Given the description of an element on the screen output the (x, y) to click on. 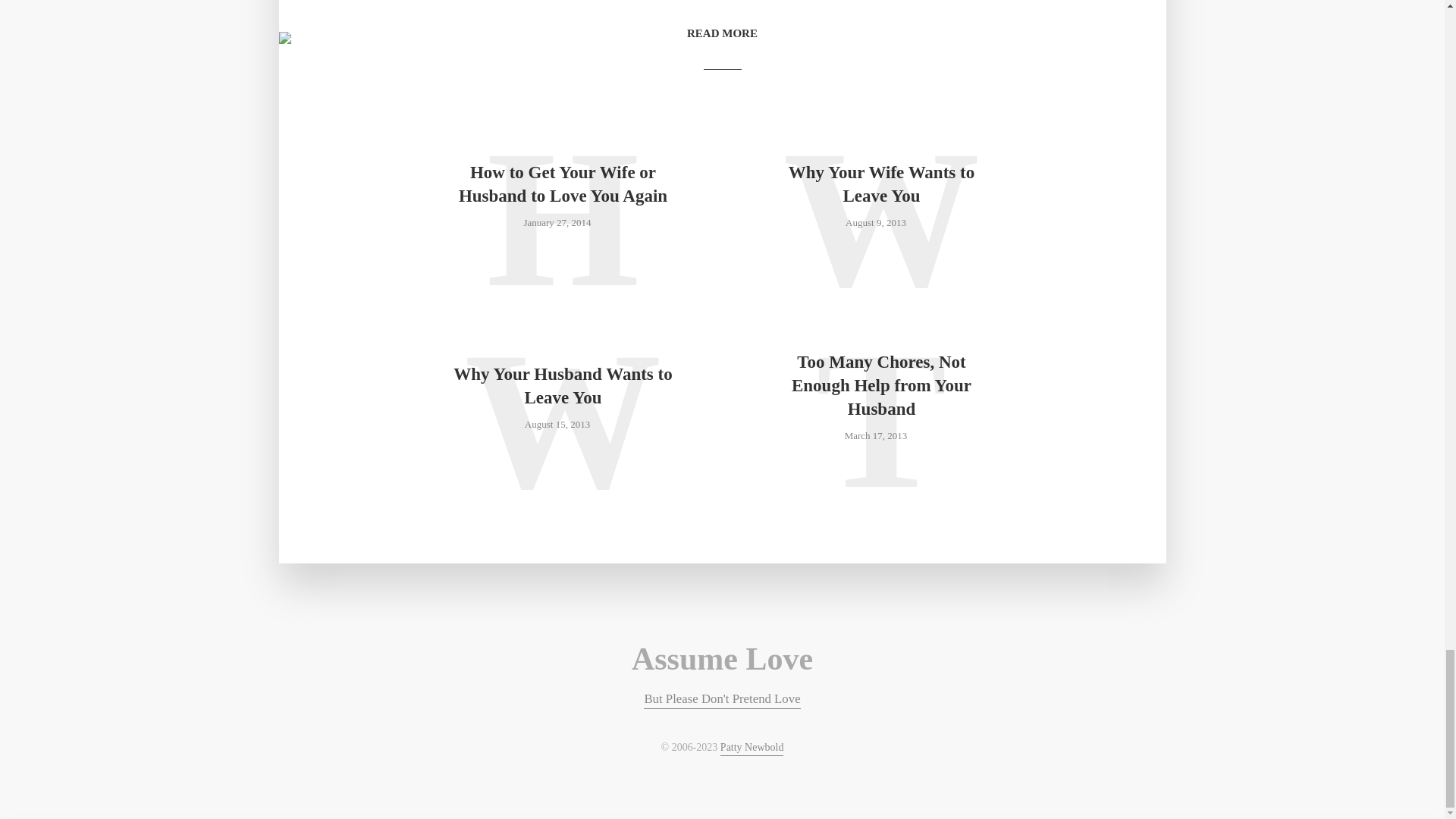
Too Many Chores, Not Enough Help from Your Husband (880, 385)
Why Your Wife Wants to Leave You (880, 184)
How to Get Your Wife or Husband to Love You Again (562, 184)
Why Your Husband Wants to Leave You (562, 385)
